Given the description of an element on the screen output the (x, y) to click on. 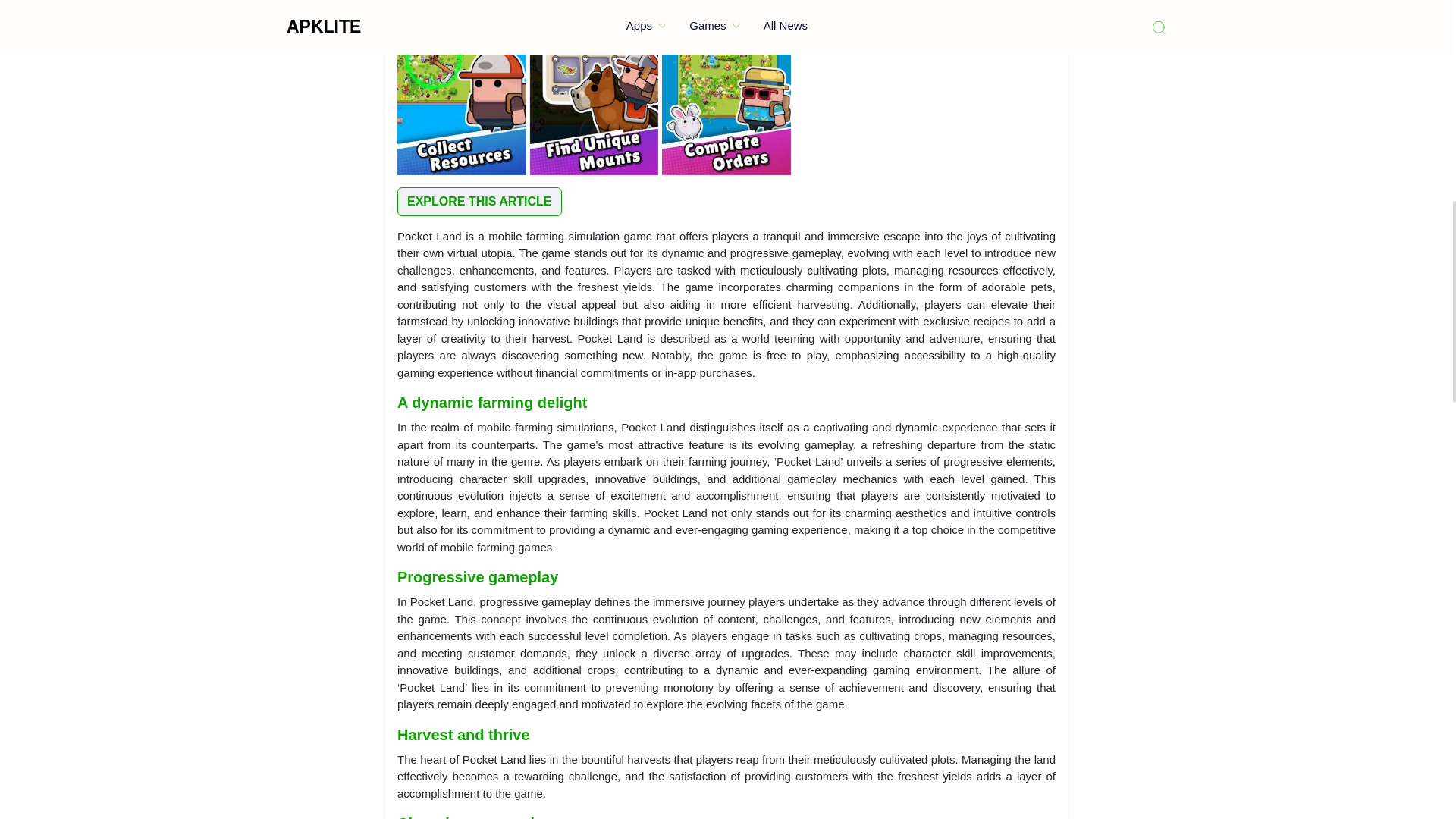
Gallery 0 (461, 87)
Gallery 1 (594, 87)
Gallery 2 (726, 87)
